Given the description of an element on the screen output the (x, y) to click on. 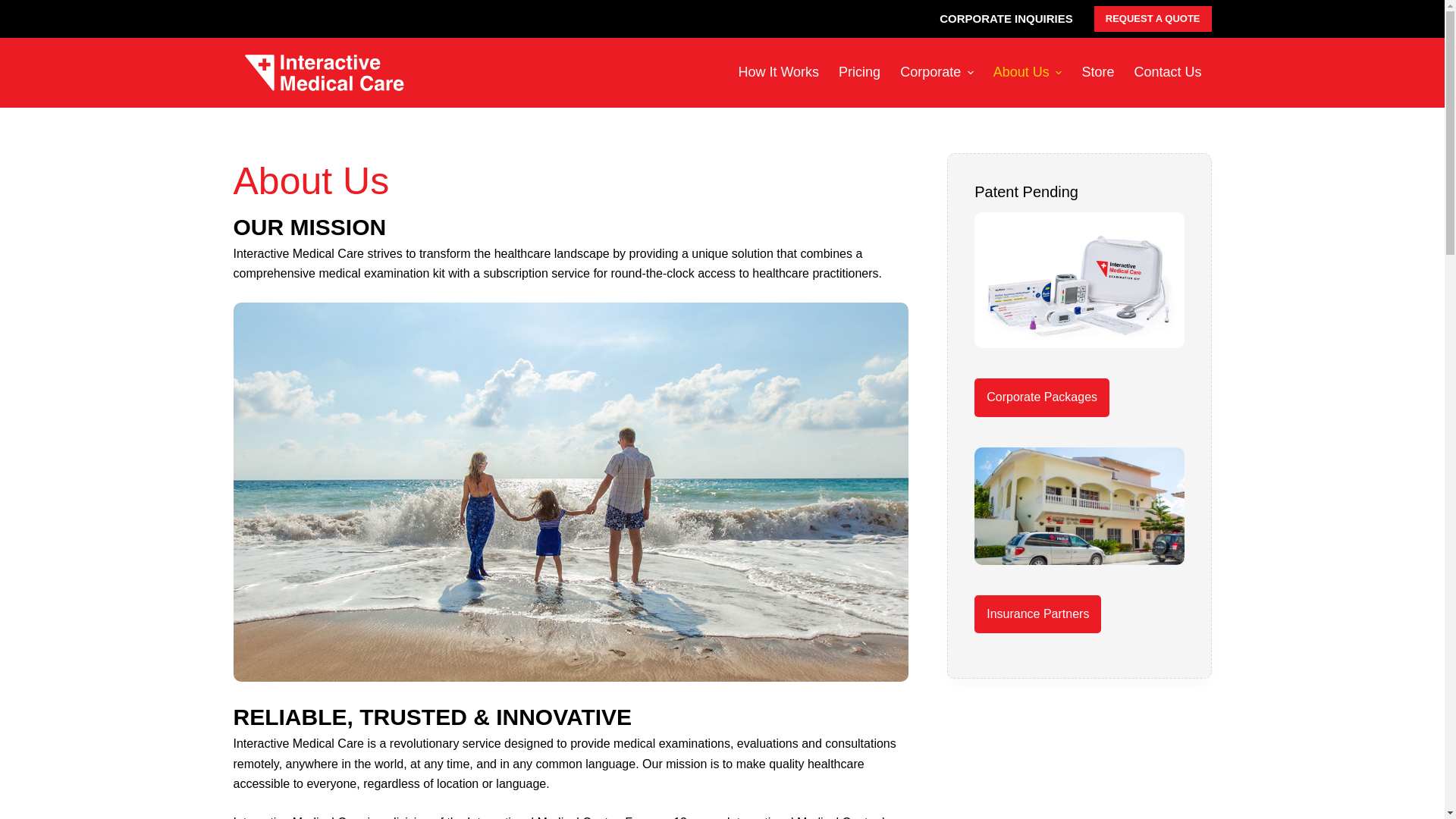
Skip to content (15, 7)
Contact Us (1167, 72)
About Us (1027, 72)
How It Works (778, 72)
REQUEST A QUOTE (1152, 18)
CORPORATE INQUIRIES (1005, 18)
Corporate (936, 72)
